Given the description of an element on the screen output the (x, y) to click on. 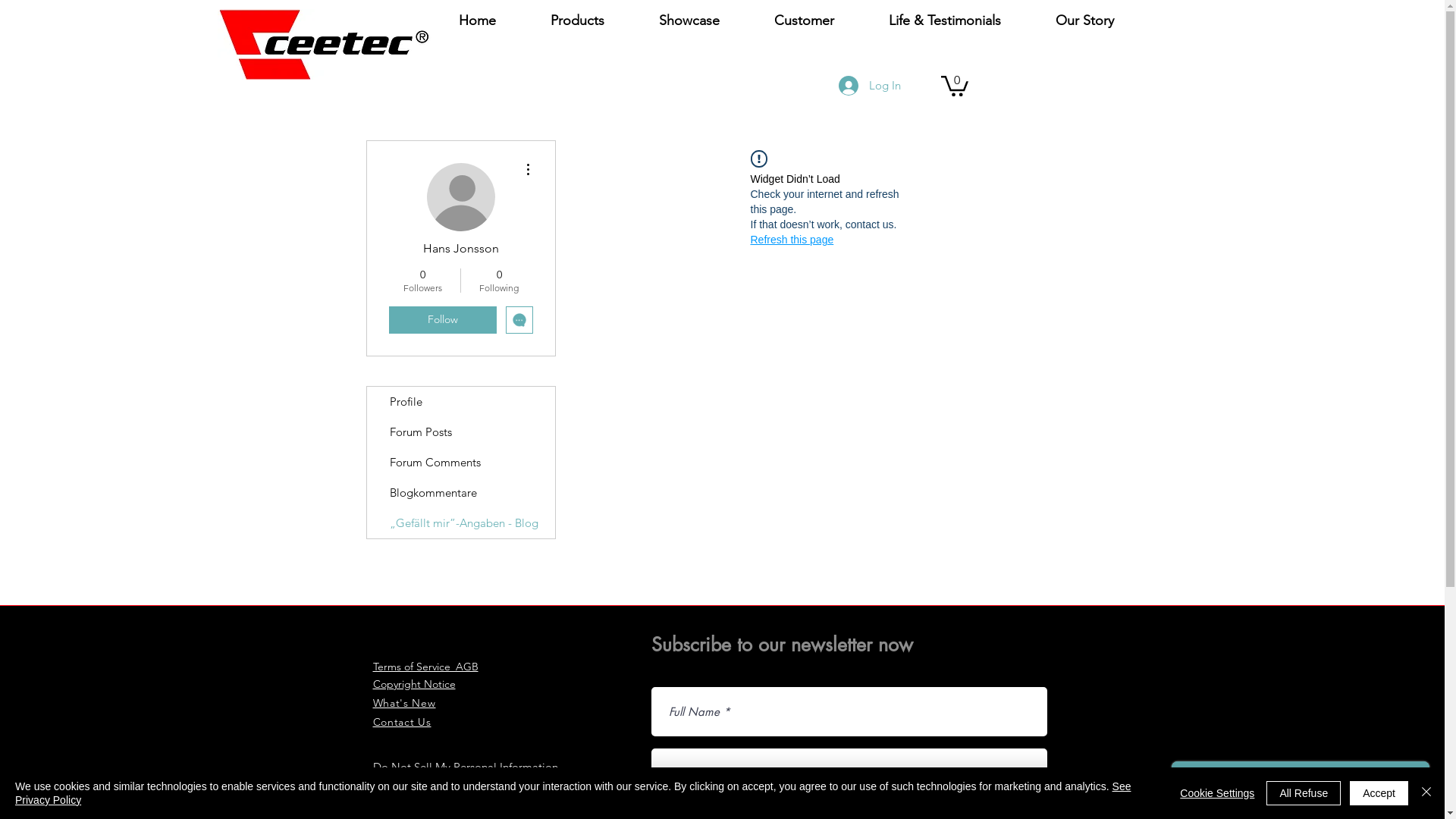
0
Followers Element type: text (421, 280)
Life & Testimonials Element type: text (944, 20)
Do Not Sell My Personal Information Element type: text (465, 767)
Blogkommentare Element type: text (461, 492)
Accept Element type: text (1378, 793)
Home Element type: text (476, 20)
Refresh this page Element type: text (792, 239)
Profile Element type: text (461, 401)
Forum Comments Element type: text (461, 462)
0 Element type: text (953, 84)
0
Following Element type: text (499, 280)
Contact Us Element type: text (402, 721)
Follow Element type: text (441, 319)
Log In Element type: text (869, 85)
What's New Element type: text (404, 702)
Showcase Element type: text (688, 20)
Products Element type: text (577, 20)
See Privacy Policy Element type: text (572, 793)
Customer Element type: text (803, 20)
Our Story Element type: text (1084, 20)
Forum Posts Element type: text (461, 432)
Copyright Notice Element type: text (414, 683)
Terms of Service_AGB Element type: text (425, 666)
All Refuse Element type: text (1303, 793)
